Given the description of an element on the screen output the (x, y) to click on. 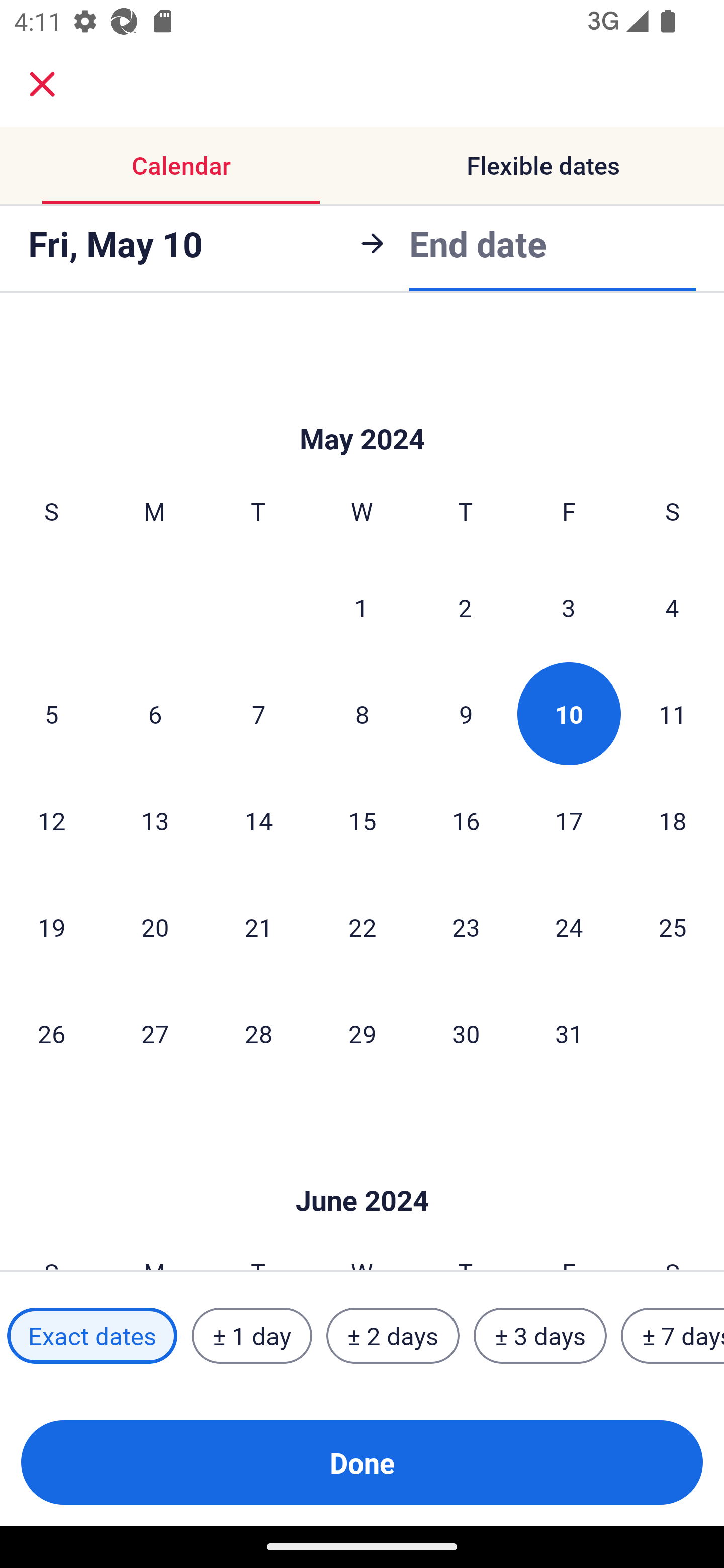
close. (42, 84)
Flexible dates (542, 164)
End date (477, 243)
Skip to Done (362, 408)
1 Wednesday, May 1, 2024 (361, 606)
2 Thursday, May 2, 2024 (464, 606)
3 Friday, May 3, 2024 (568, 606)
4 Saturday, May 4, 2024 (672, 606)
5 Sunday, May 5, 2024 (51, 713)
6 Monday, May 6, 2024 (155, 713)
7 Tuesday, May 7, 2024 (258, 713)
8 Wednesday, May 8, 2024 (362, 713)
9 Thursday, May 9, 2024 (465, 713)
11 Saturday, May 11, 2024 (672, 713)
12 Sunday, May 12, 2024 (51, 819)
13 Monday, May 13, 2024 (155, 819)
14 Tuesday, May 14, 2024 (258, 819)
15 Wednesday, May 15, 2024 (362, 819)
16 Thursday, May 16, 2024 (465, 819)
17 Friday, May 17, 2024 (569, 819)
18 Saturday, May 18, 2024 (672, 819)
19 Sunday, May 19, 2024 (51, 926)
20 Monday, May 20, 2024 (155, 926)
21 Tuesday, May 21, 2024 (258, 926)
22 Wednesday, May 22, 2024 (362, 926)
23 Thursday, May 23, 2024 (465, 926)
24 Friday, May 24, 2024 (569, 926)
25 Saturday, May 25, 2024 (672, 926)
26 Sunday, May 26, 2024 (51, 1033)
27 Monday, May 27, 2024 (155, 1033)
28 Tuesday, May 28, 2024 (258, 1033)
29 Wednesday, May 29, 2024 (362, 1033)
30 Thursday, May 30, 2024 (465, 1033)
31 Friday, May 31, 2024 (569, 1033)
Skip to Done (362, 1170)
Exact dates (92, 1335)
± 1 day (251, 1335)
± 2 days (392, 1335)
± 3 days (539, 1335)
± 7 days (672, 1335)
Done (361, 1462)
